Given the description of an element on the screen output the (x, y) to click on. 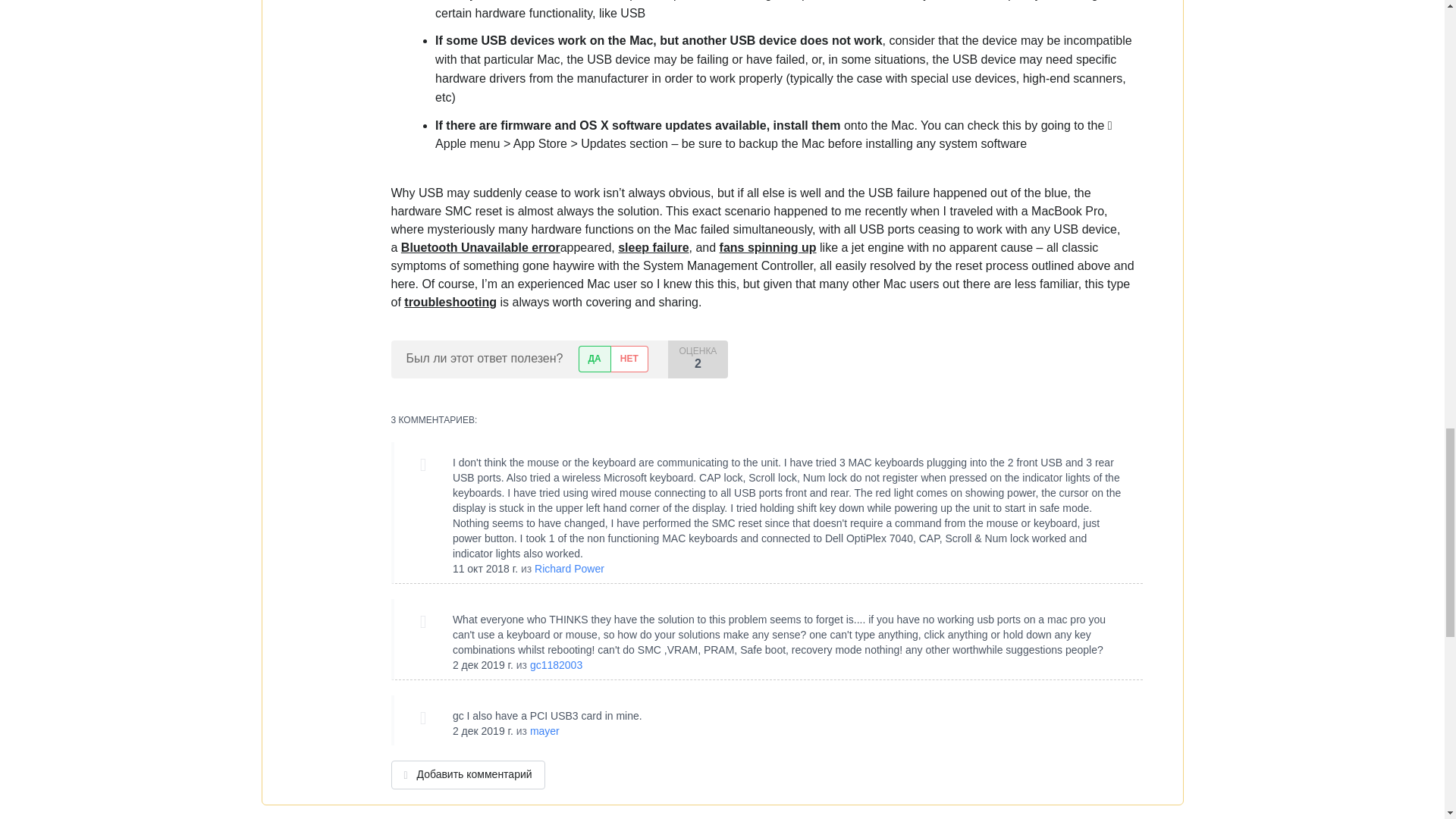
Mon, 02 Dec 2019 15:25:13 -0700 (482, 730)
Mon, 02 Dec 2019 15:04:25 -0700 (482, 664)
Thu, 11 Oct 2018 09:17:29 -0700 (485, 568)
